Given the description of an element on the screen output the (x, y) to click on. 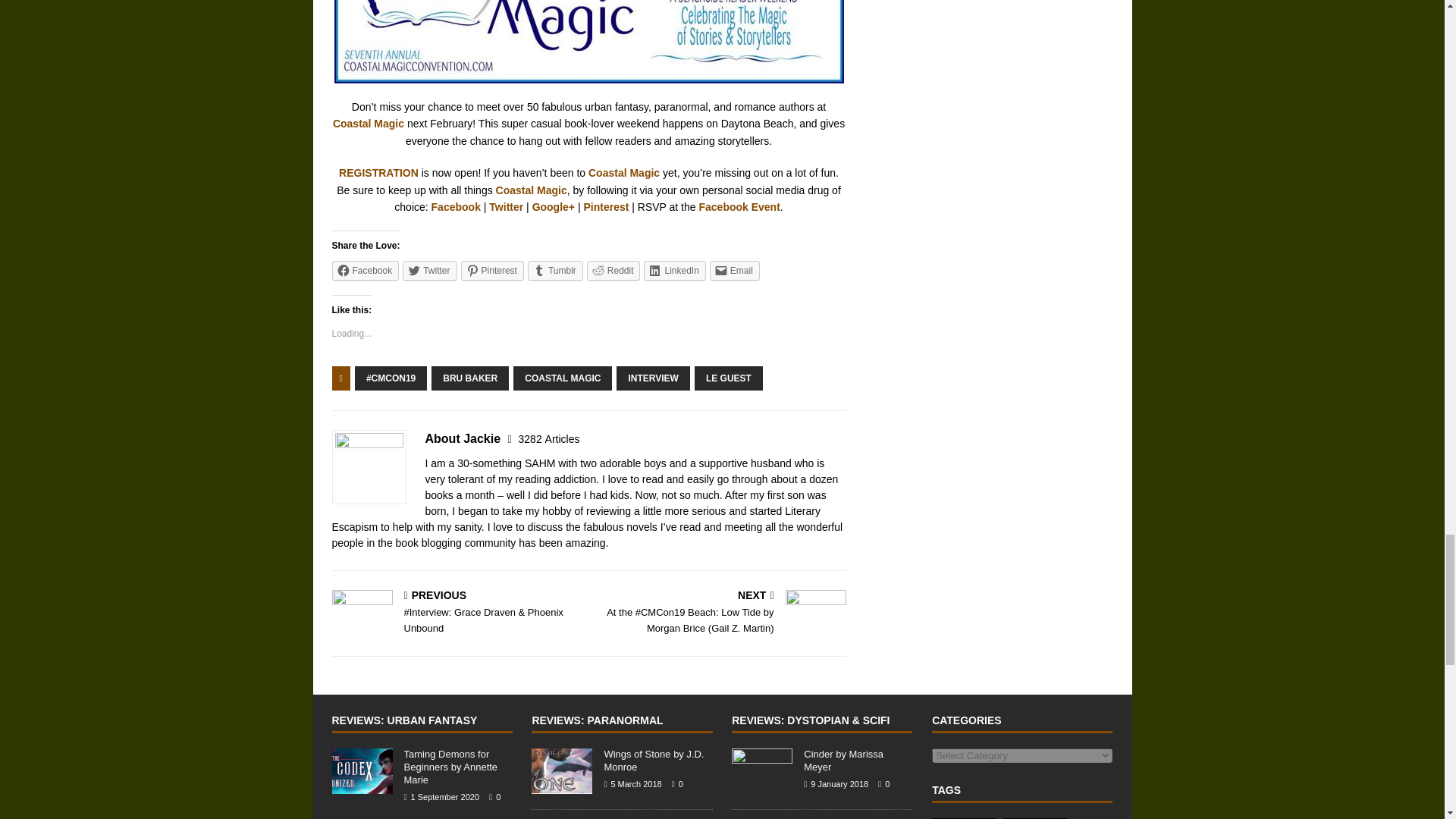
Click to share on Twitter (430, 270)
Click to share on Facebook (364, 270)
Click to share on Tumblr (555, 270)
Click to share on Pinterest (492, 270)
Click to share on LinkedIn (673, 270)
More articles written by Jackie' (548, 439)
Click to email this to a friend (735, 270)
Click to share on Reddit (613, 270)
